Given the description of an element on the screen output the (x, y) to click on. 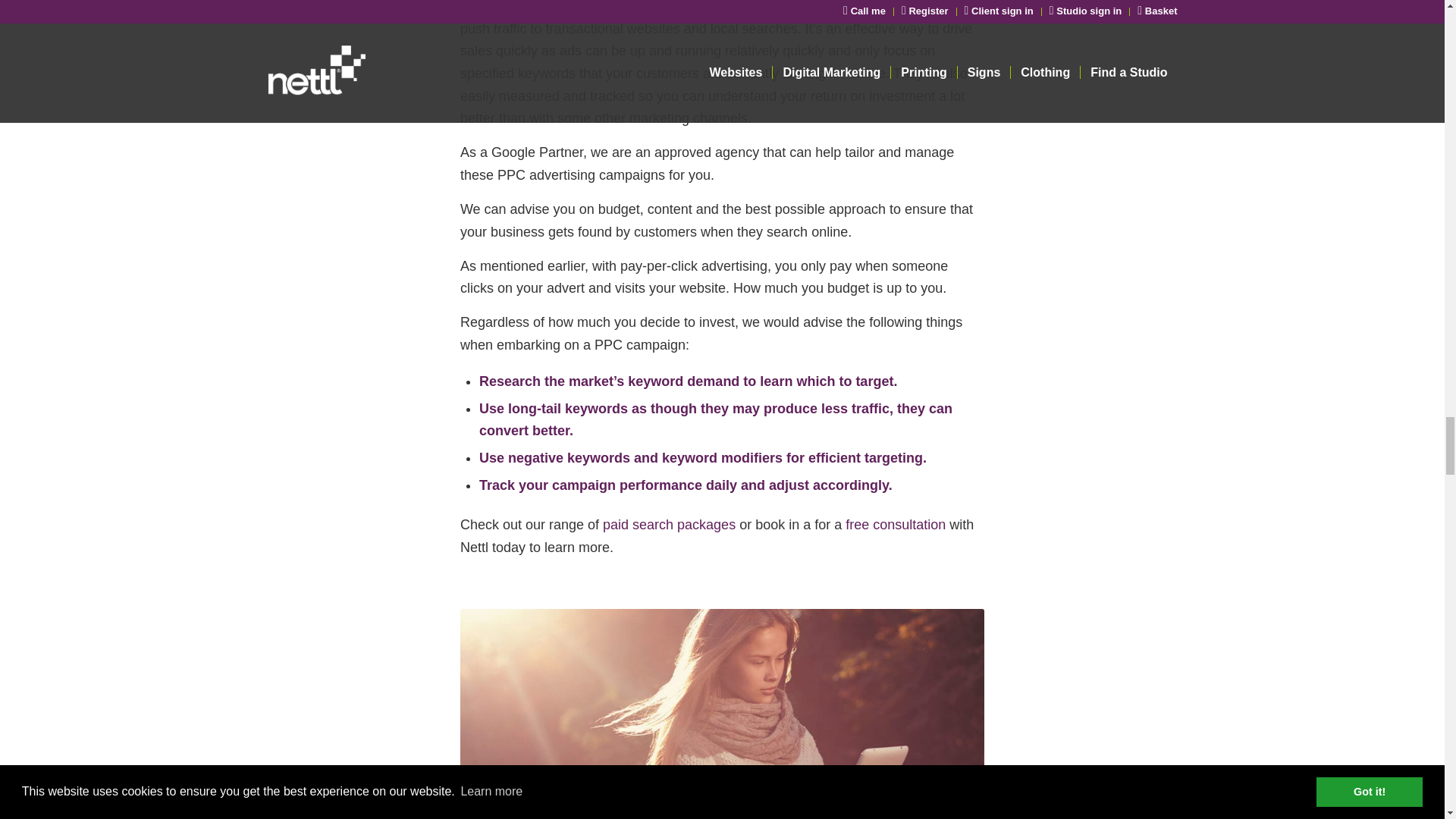
ipad (722, 714)
